Given the description of an element on the screen output the (x, y) to click on. 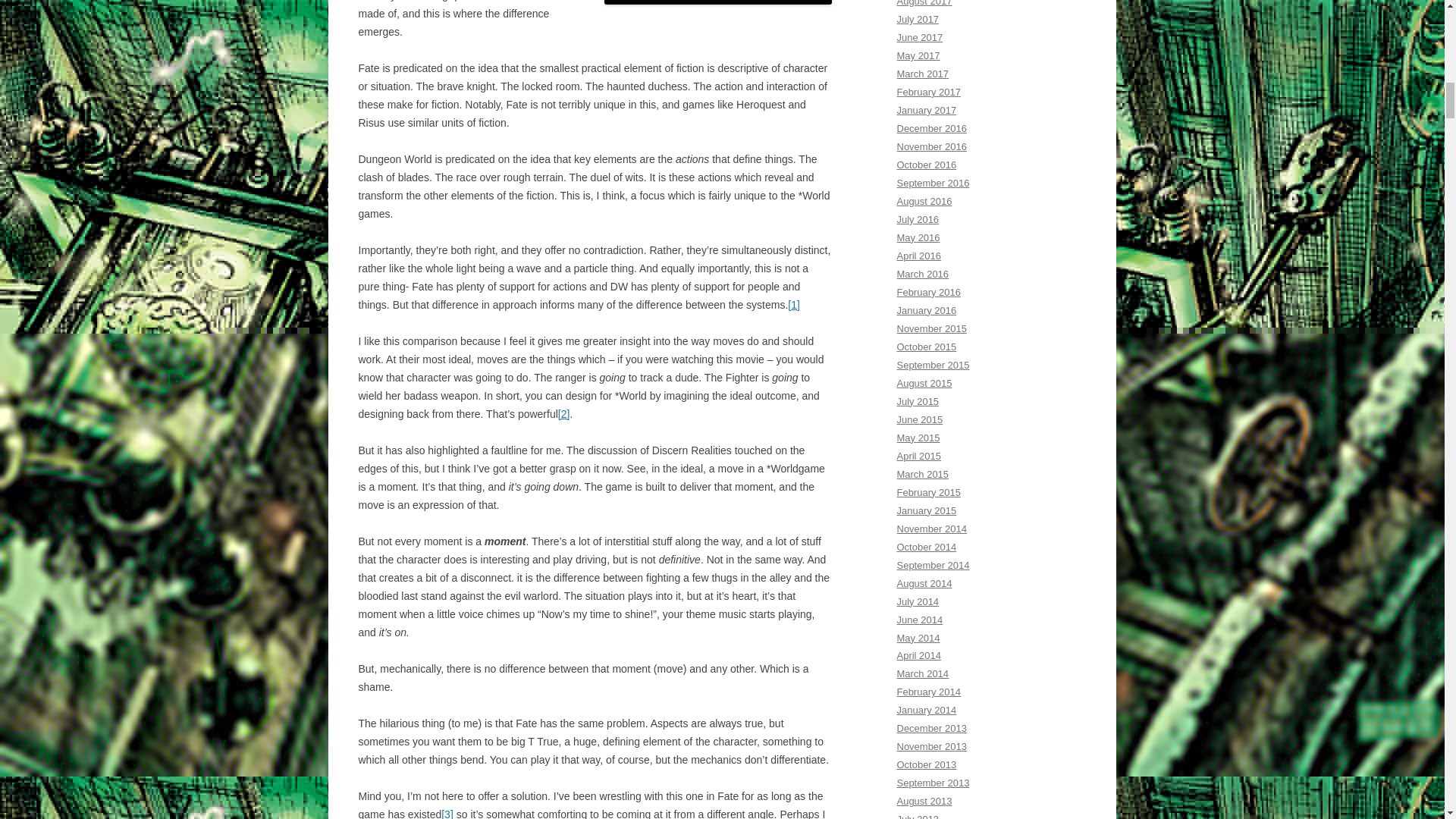
see footnote (563, 413)
see footnote (446, 813)
see footnote (793, 304)
